Given the description of an element on the screen output the (x, y) to click on. 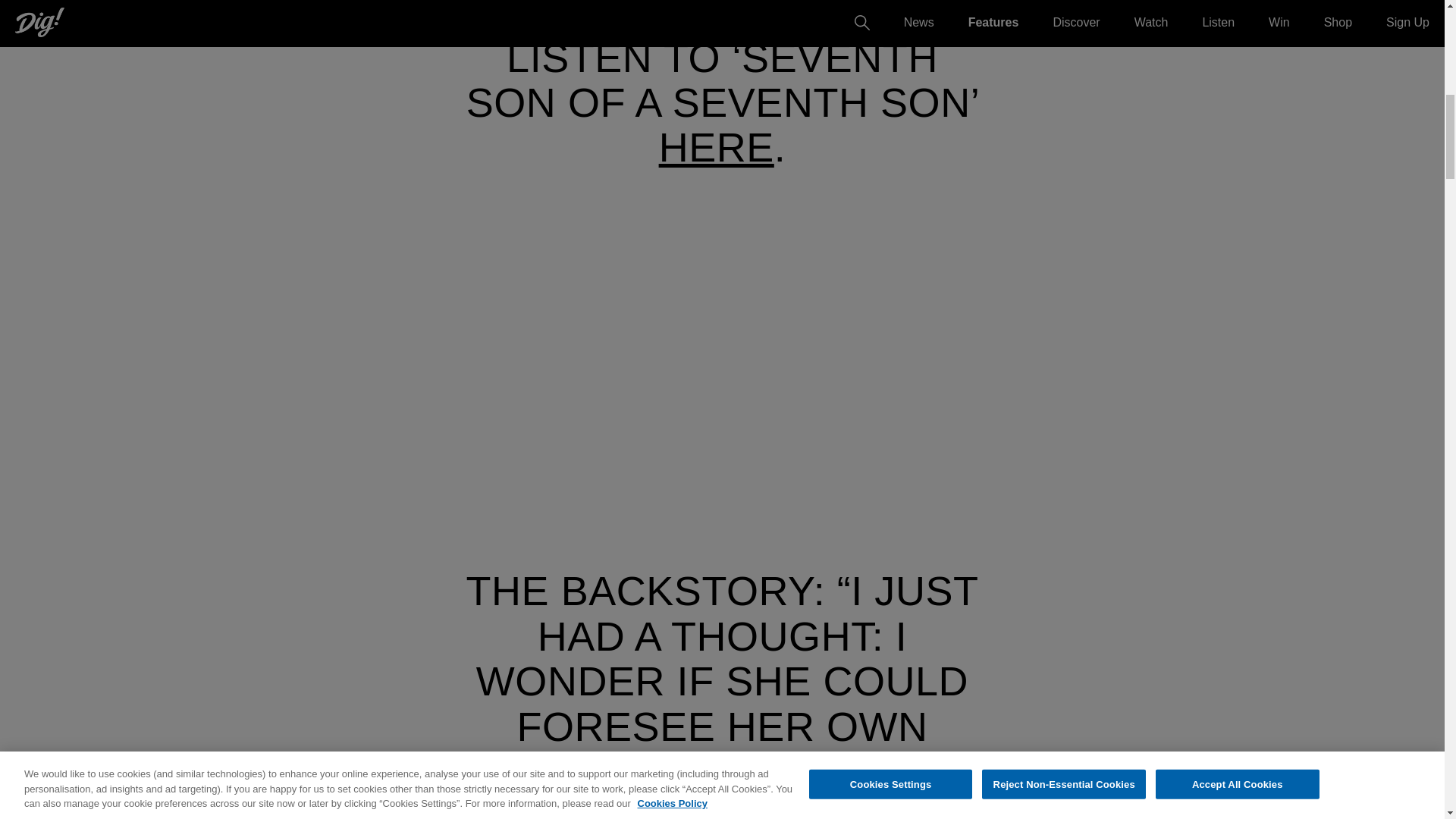
HERE (716, 146)
